Given the description of an element on the screen output the (x, y) to click on. 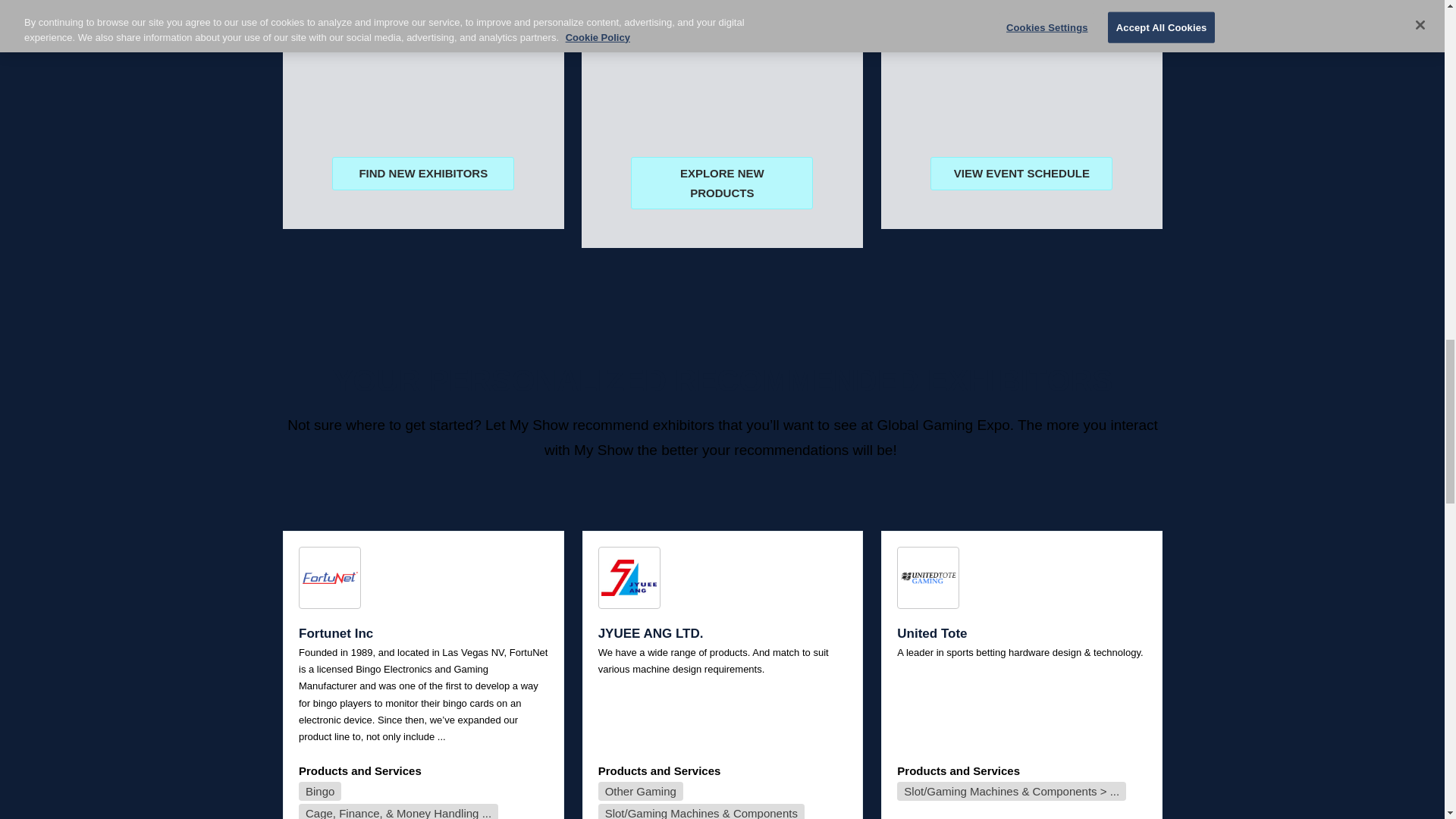
United Tote (927, 577)
Fortunet Inc (328, 577)
JYUEE ANG LTD. (628, 577)
